Given the description of an element on the screen output the (x, y) to click on. 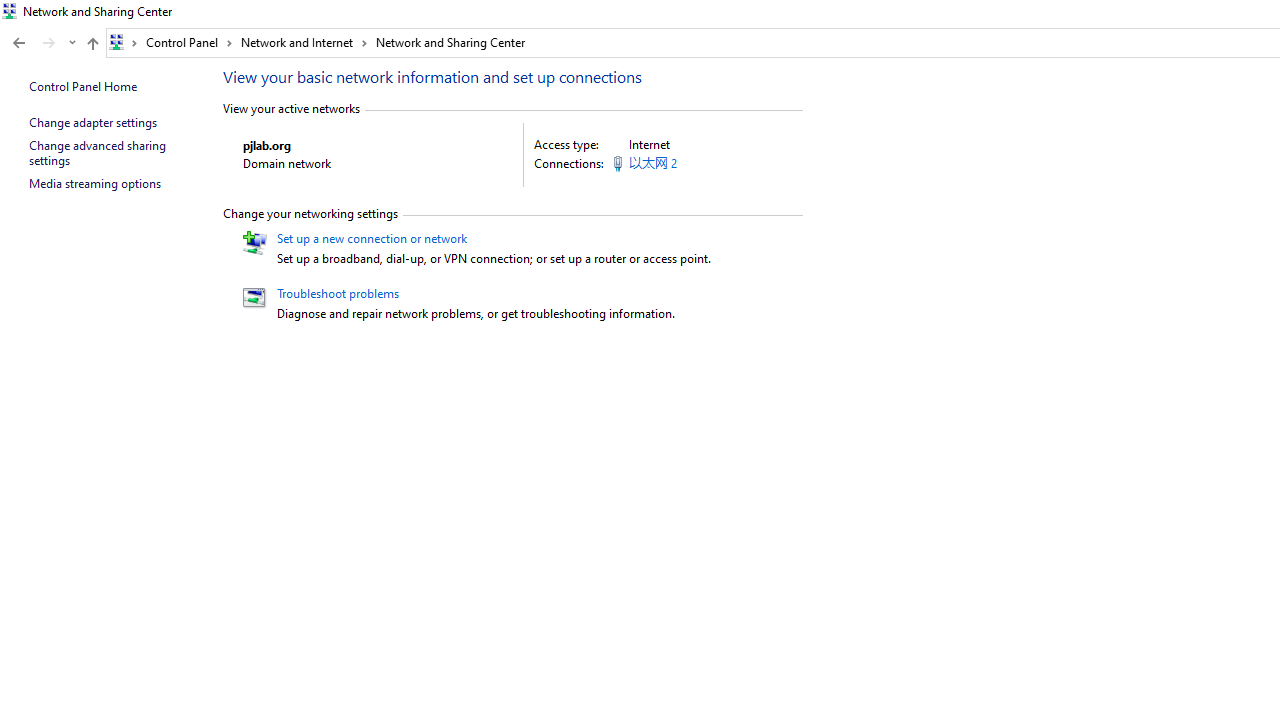
System (10, 11)
Set up a new connection or network (371, 238)
Network and Internet (304, 42)
Change advanced sharing settings (98, 152)
Troubleshoot problems (337, 292)
Change adapter settings (92, 122)
Navigation buttons (41, 43)
Recent locations (71, 43)
Control Panel Home (82, 86)
Up to "Network and Internet" (Alt + Up Arrow) (92, 43)
Back to Network and Internet (Alt + Left Arrow) (18, 43)
Control Panel (189, 42)
Up band toolbar (92, 46)
Forward (Alt + Right Arrow) (49, 43)
